Given the description of an element on the screen output the (x, y) to click on. 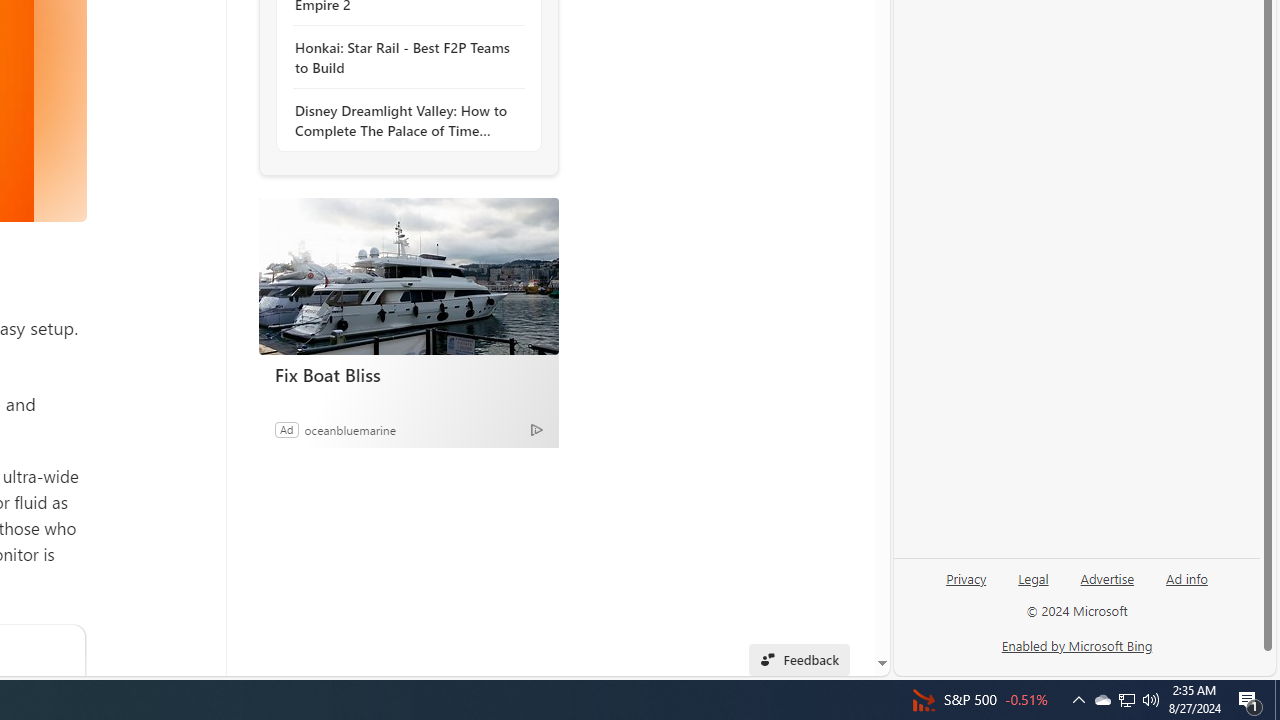
oceanbluemarine (349, 429)
Honkai: Star Rail - Best F2P Teams to Build (403, 57)
Ad info (1187, 577)
Fix Boat Bliss (408, 276)
